Given the description of an element on the screen output the (x, y) to click on. 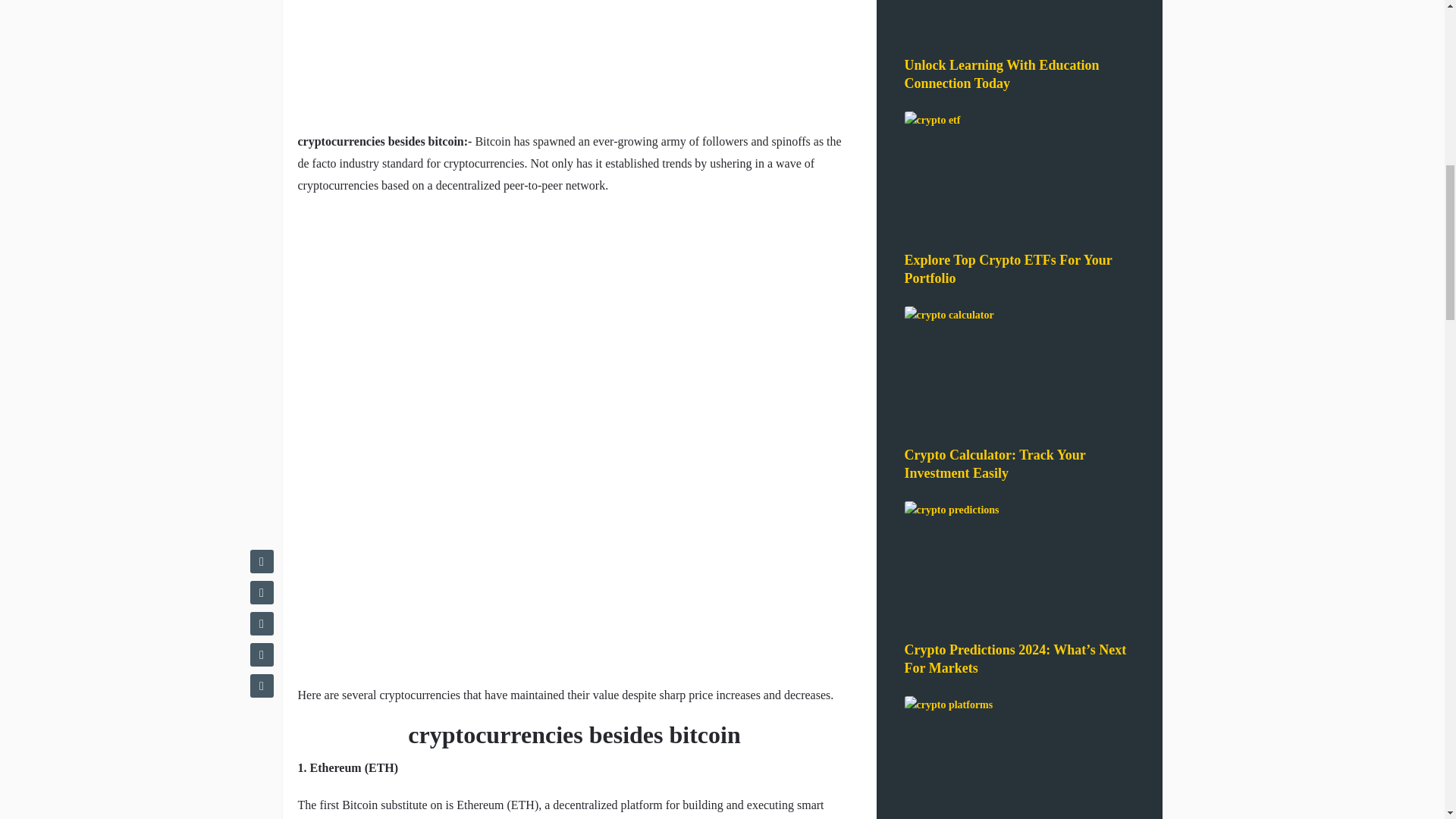
Explore Top Crypto ETFs For Your Portfolio (1008, 268)
Crypto Calculator: Track Your Investment Easily (994, 463)
Unlock Learning With Education Connection Today (1001, 73)
Explore Top Crypto ETFs For Your Portfolio (1008, 268)
Unlock Learning With Education Connection Today (1001, 73)
